Given the description of an element on the screen output the (x, y) to click on. 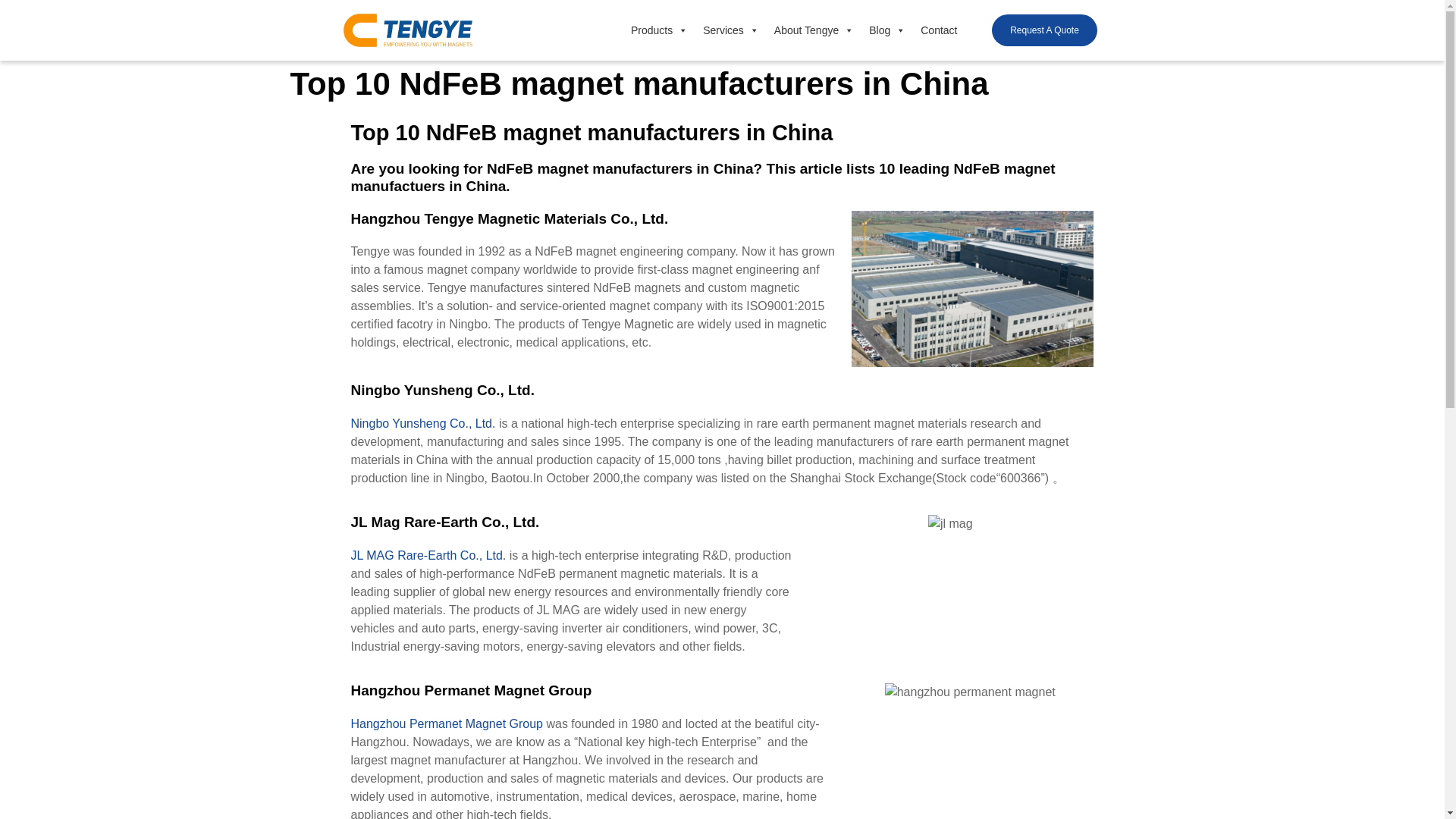
Services (731, 30)
Ningbo Yunsheng Co., Ltd. (422, 422)
JL MAG Rare-Earth Co., Ltd. (427, 554)
Hangzhou Permanet Magnet Group (445, 723)
Products (659, 30)
About Tengye (814, 30)
Request A Quote (1044, 29)
